Given the description of an element on the screen output the (x, y) to click on. 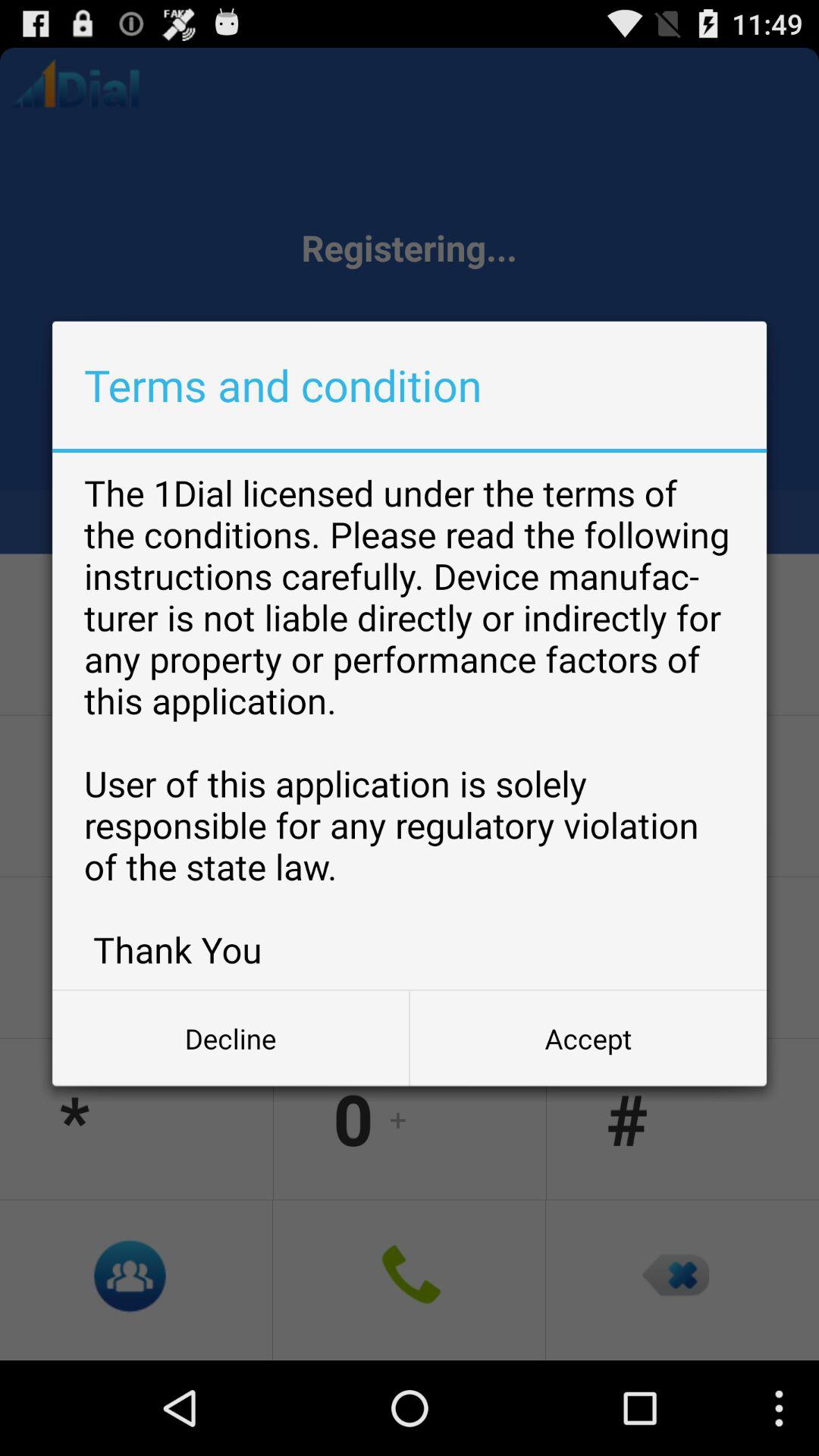
launch the item at the bottom right corner (588, 1038)
